Given the description of an element on the screen output the (x, y) to click on. 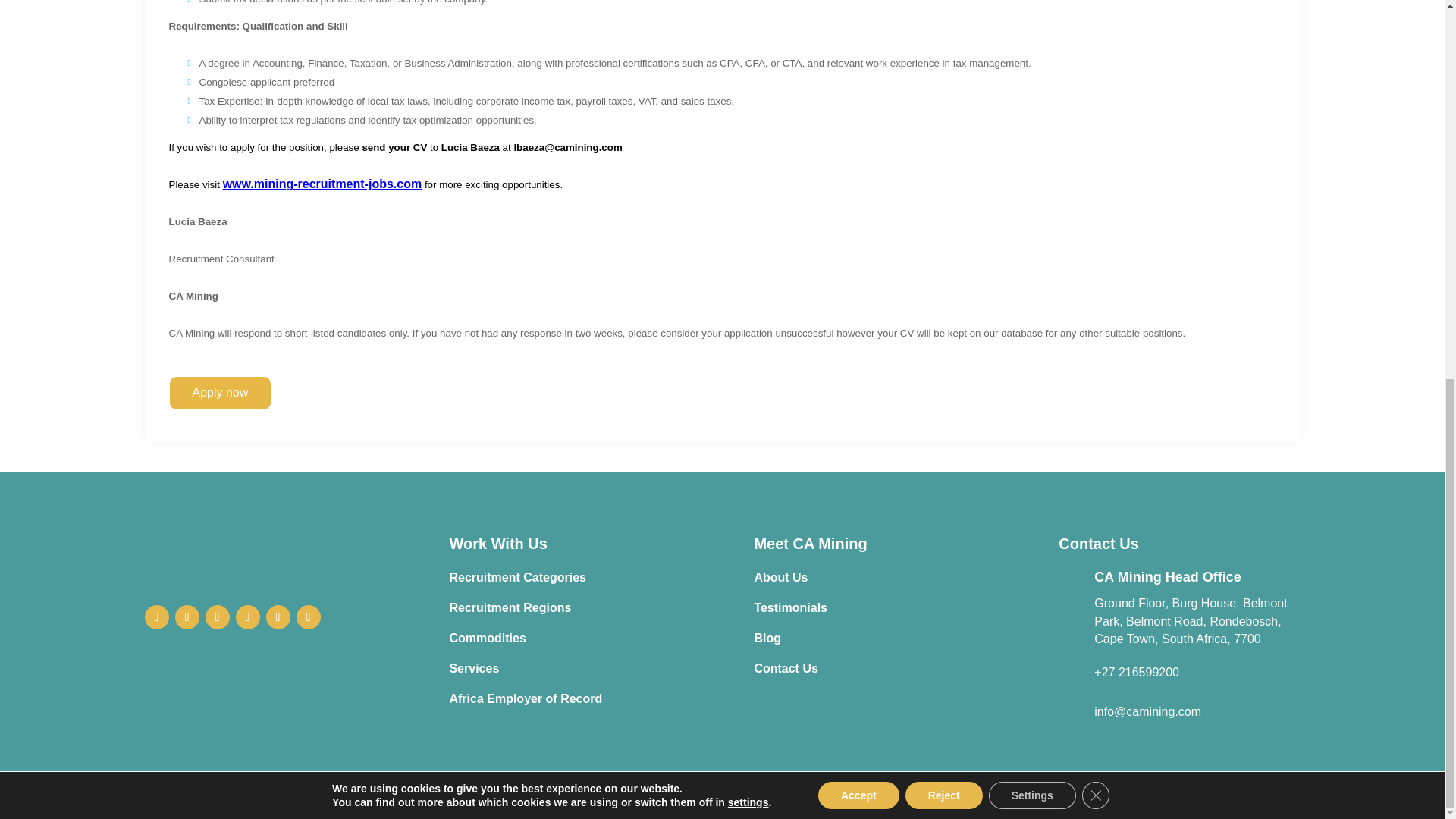
Follow on Facebook (156, 617)
Follow on X (186, 617)
Follow on Instagram (216, 617)
CA-Mining-1-White (264, 553)
